Given the description of an element on the screen output the (x, y) to click on. 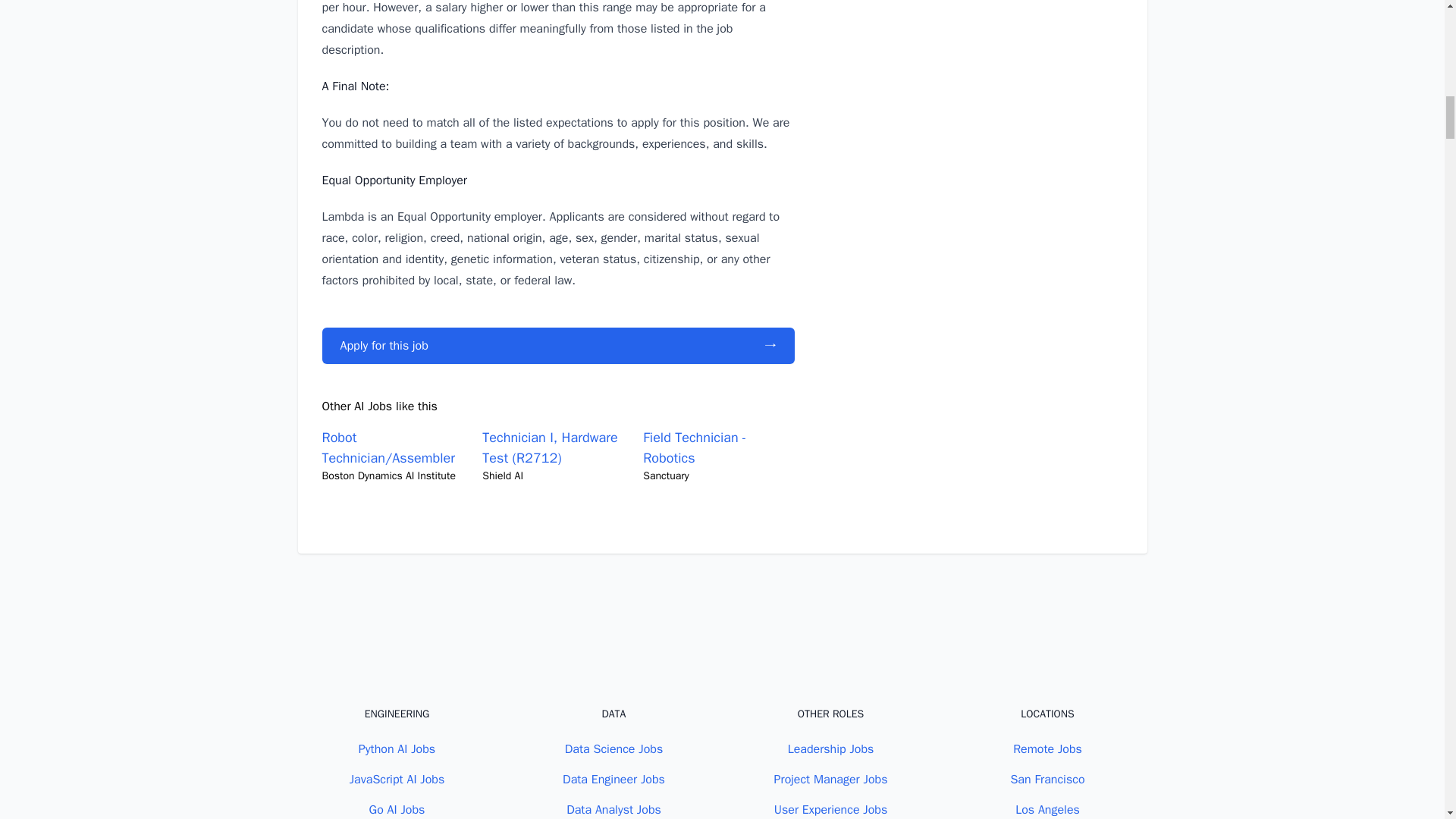
User Experience Jobs (831, 809)
Go AI Jobs (397, 809)
Field Technician - Robotics (694, 447)
Python AI Jobs (396, 749)
Los Angeles (1047, 809)
Remote Jobs (1047, 749)
JavaScript AI Jobs (397, 779)
Data Science Jobs (613, 749)
Data Engineer Jobs (613, 779)
Project Manager Jobs (831, 779)
